Given the description of an element on the screen output the (x, y) to click on. 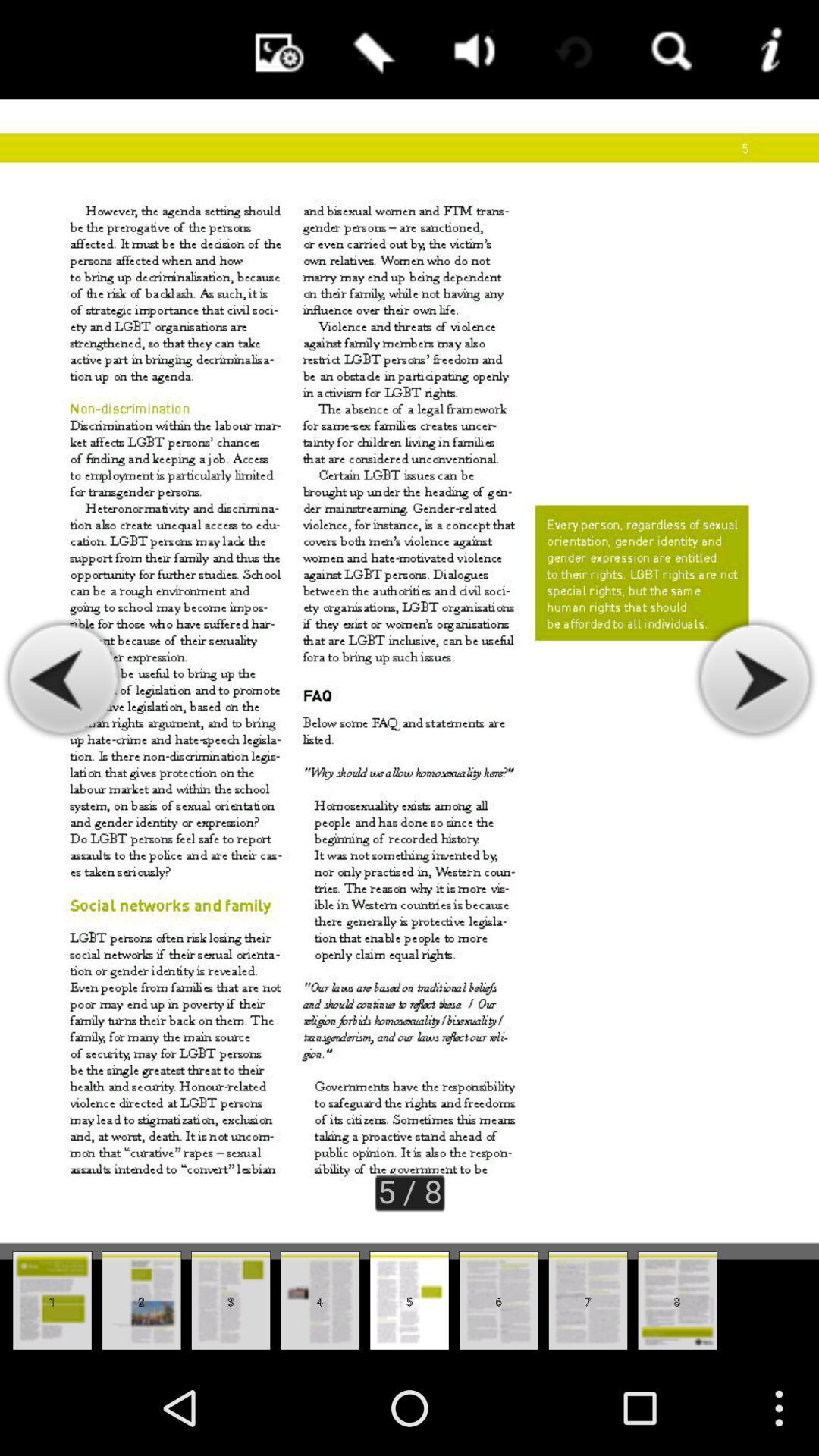
see previous page (63, 679)
